Given the description of an element on the screen output the (x, y) to click on. 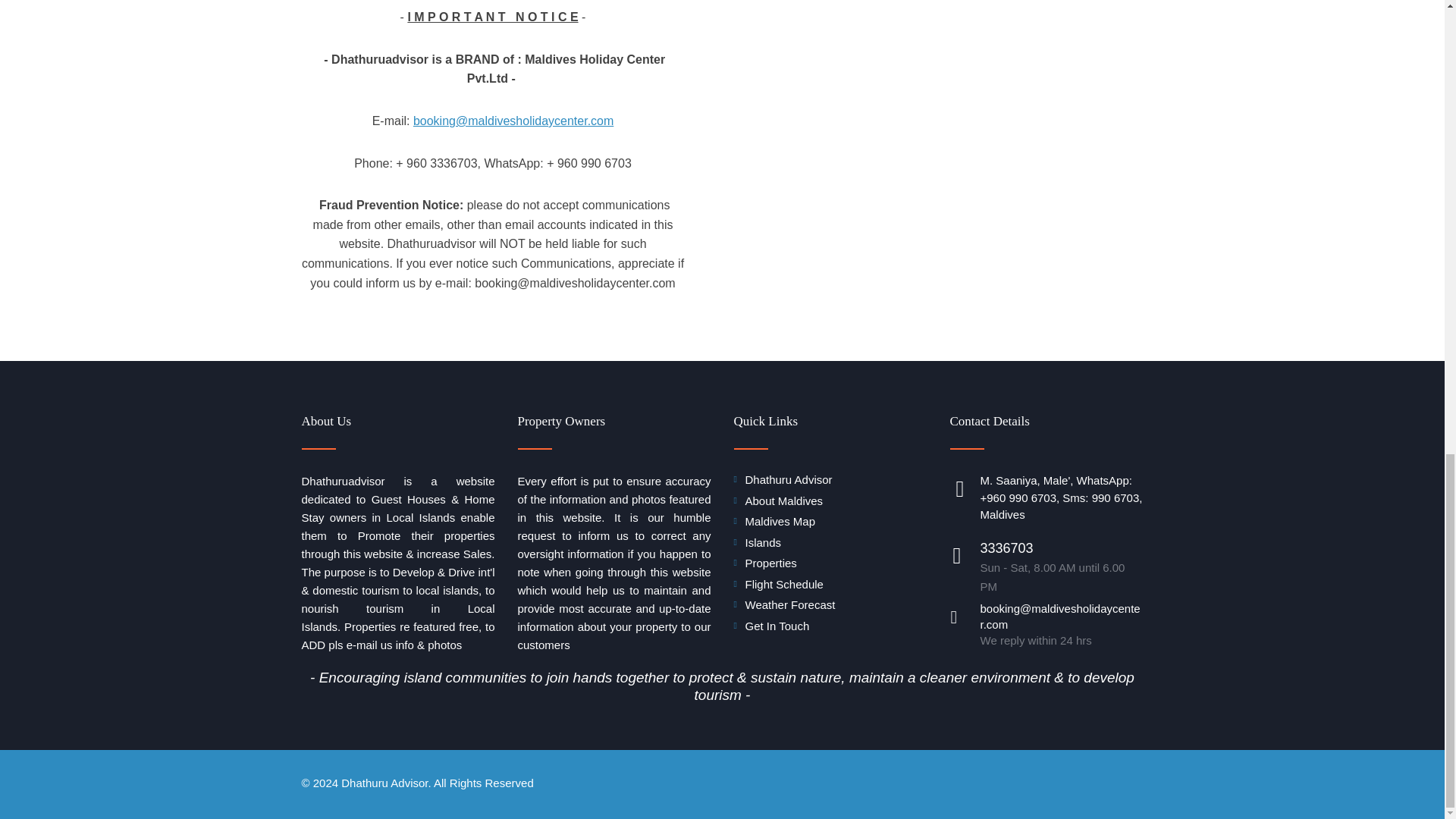
Weather Forecast (789, 604)
Maldives Map (779, 521)
Properties (770, 562)
Get In Touch (776, 625)
Flight Schedule (783, 584)
Islands (762, 542)
About Maldives (783, 500)
Dhathuru Advisor (787, 479)
